Given the description of an element on the screen output the (x, y) to click on. 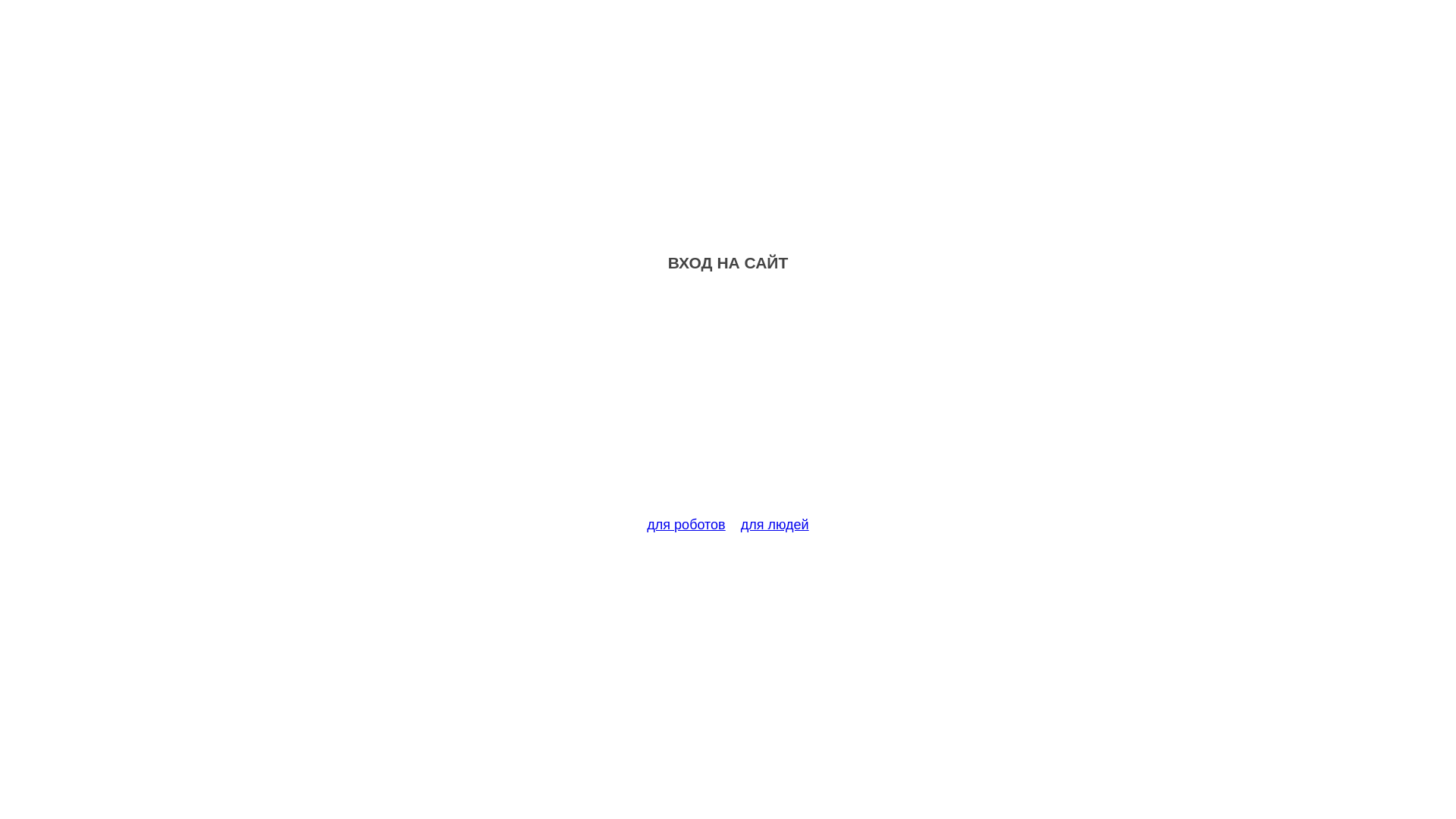
Advertisement Element type: hover (727, 403)
